Given the description of an element on the screen output the (x, y) to click on. 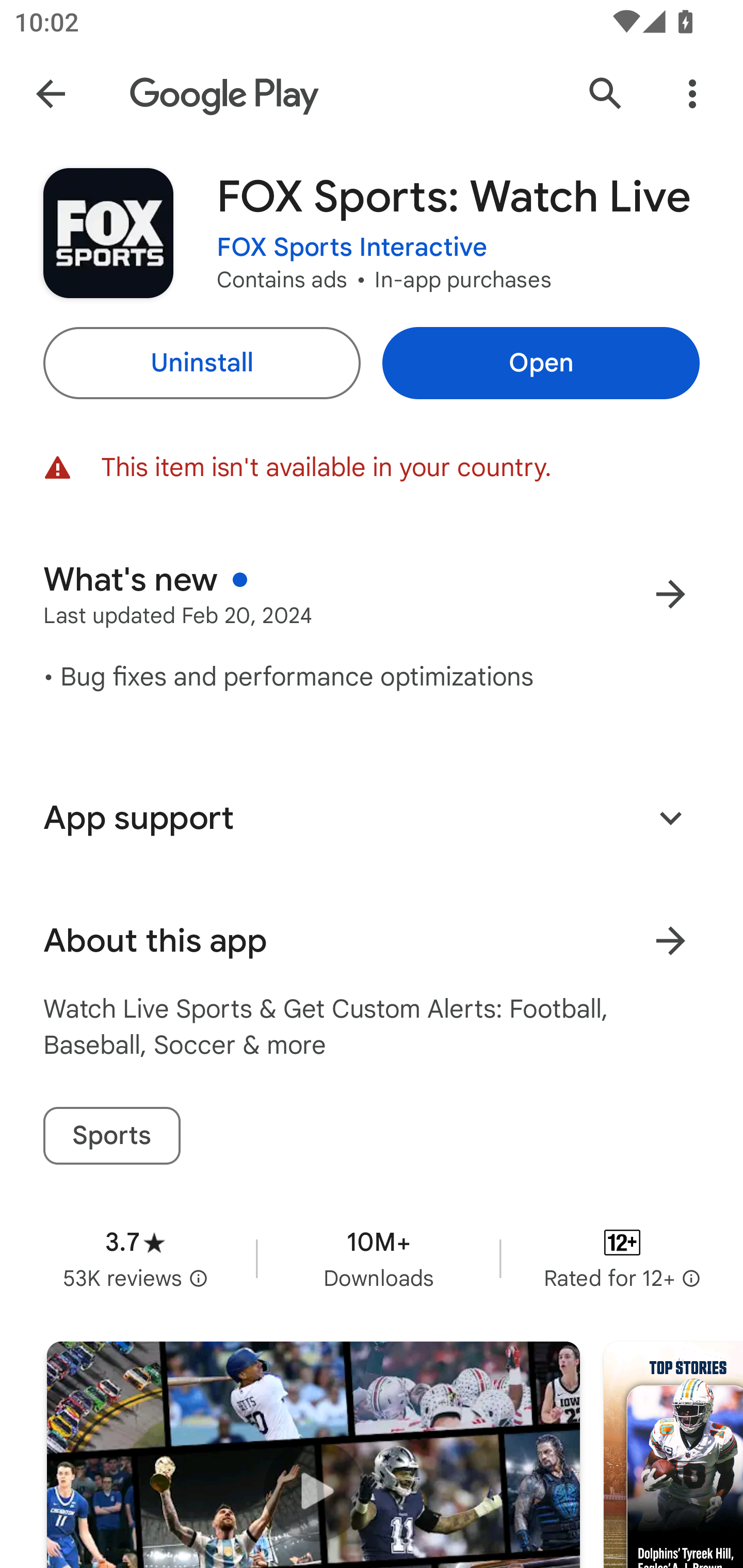
Navigate up (50, 93)
Search Google Play (605, 93)
More Options (692, 93)
FOX Sports Interactive (351, 247)
Uninstall (201, 362)
Open (540, 362)
More results for What's new (670, 594)
App support Expand (371, 817)
Expand (670, 817)
About this app Learn more About this app (371, 940)
Learn more About this app (670, 940)
Sports tag (111, 1135)
Average rating 3.7 stars in 53 thousand reviews (135, 1258)
Content rating Rated for 12+ (622, 1258)
Play trailer for "FOX Sports: Watch Live" (313, 1455)
